Given the description of an element on the screen output the (x, y) to click on. 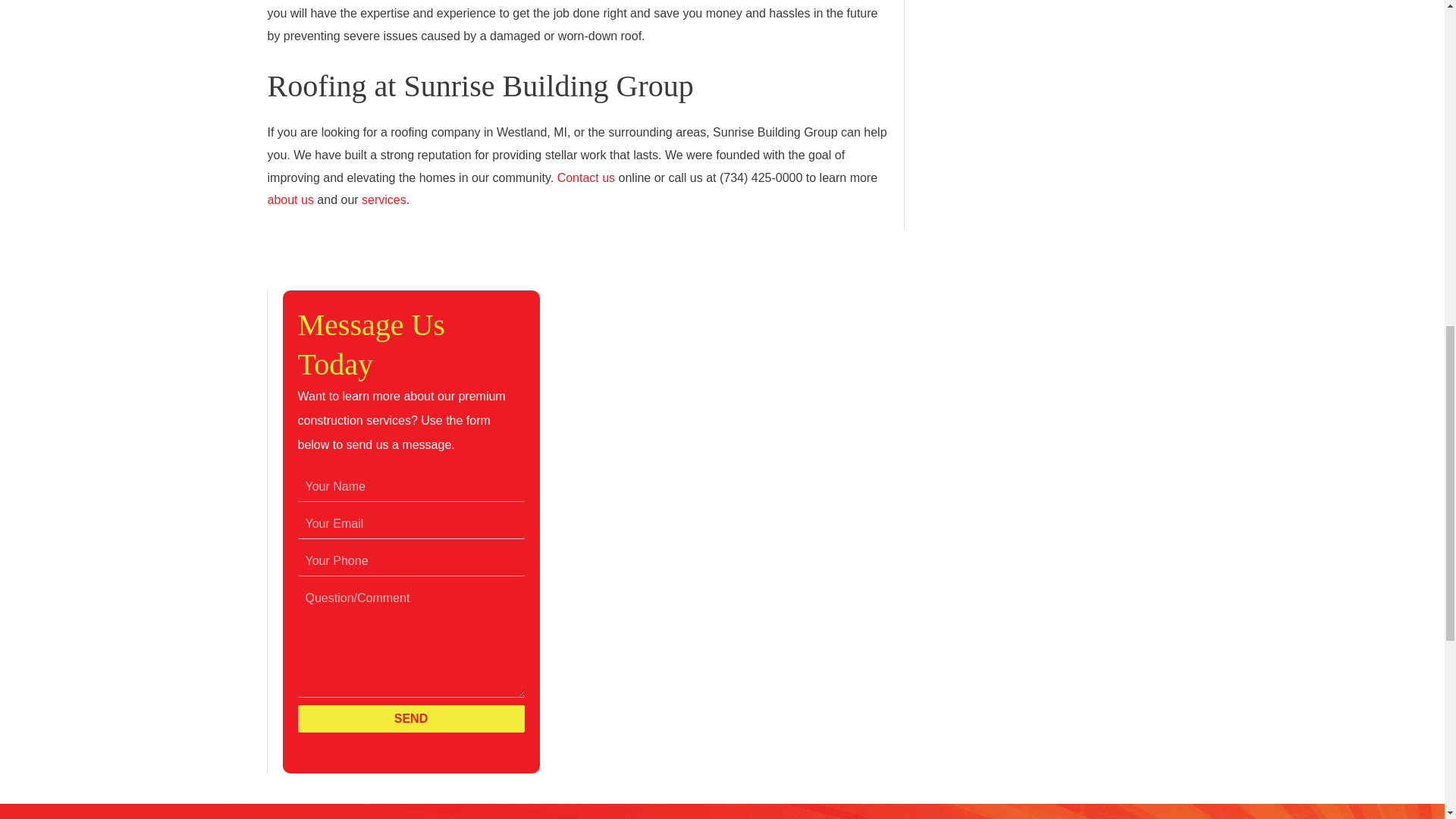
Contact us (585, 177)
Send (410, 718)
Send (410, 718)
services (383, 199)
about us (289, 199)
